Given the description of an element on the screen output the (x, y) to click on. 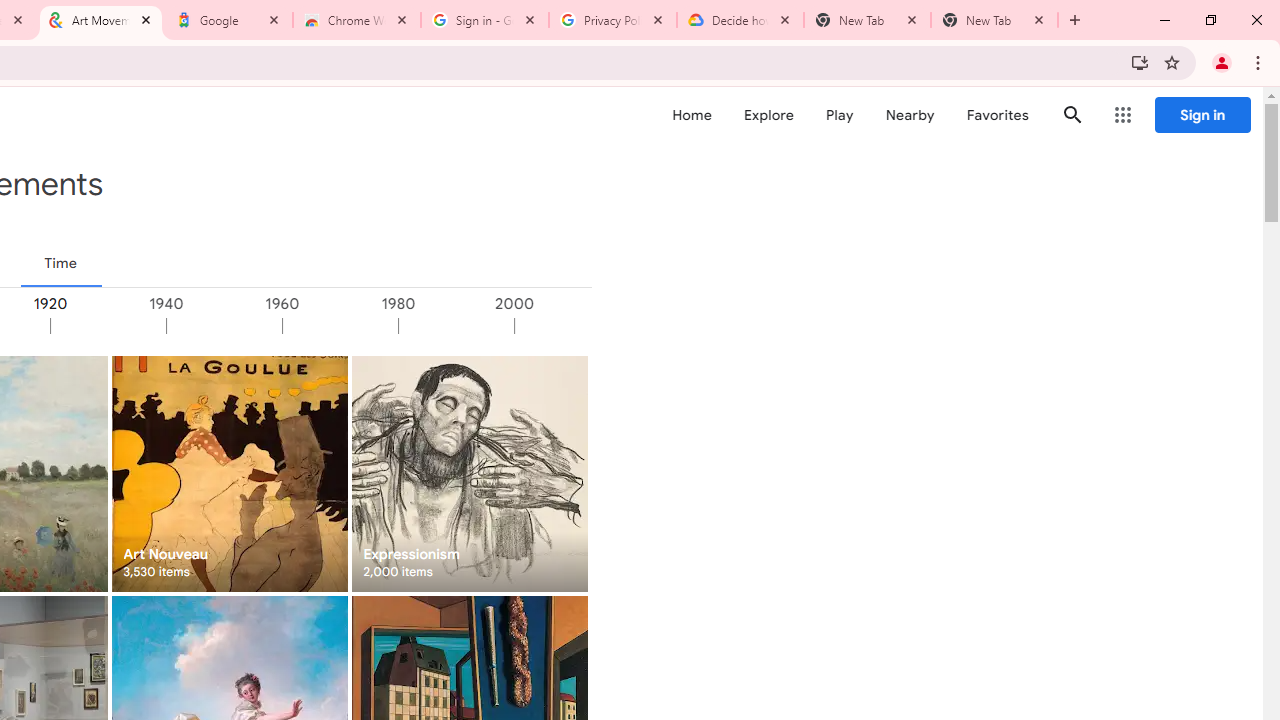
New Tab (994, 20)
1920 (107, 326)
